Given the description of an element on the screen output the (x, y) to click on. 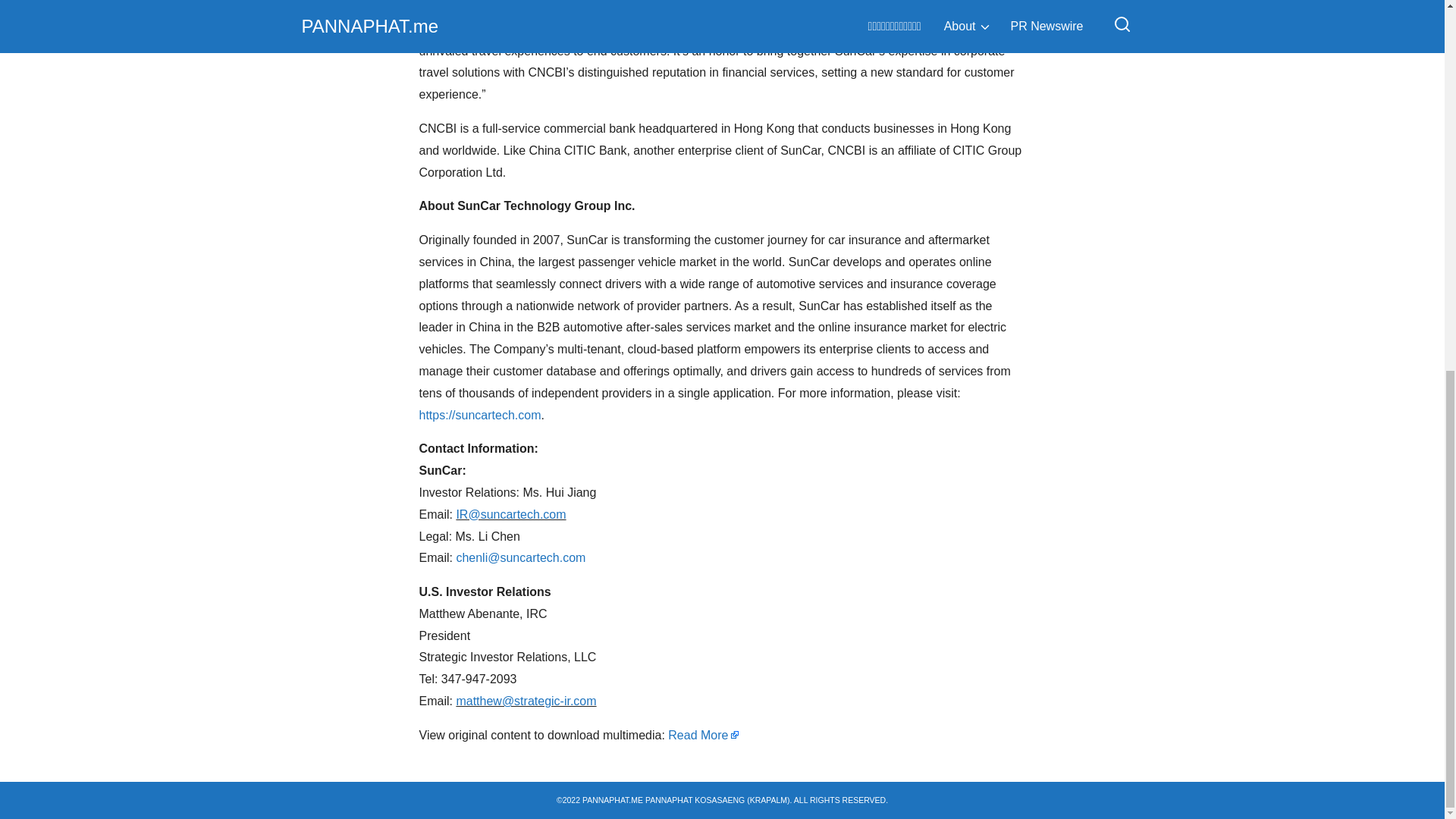
Read More (703, 735)
